Given the description of an element on the screen output the (x, y) to click on. 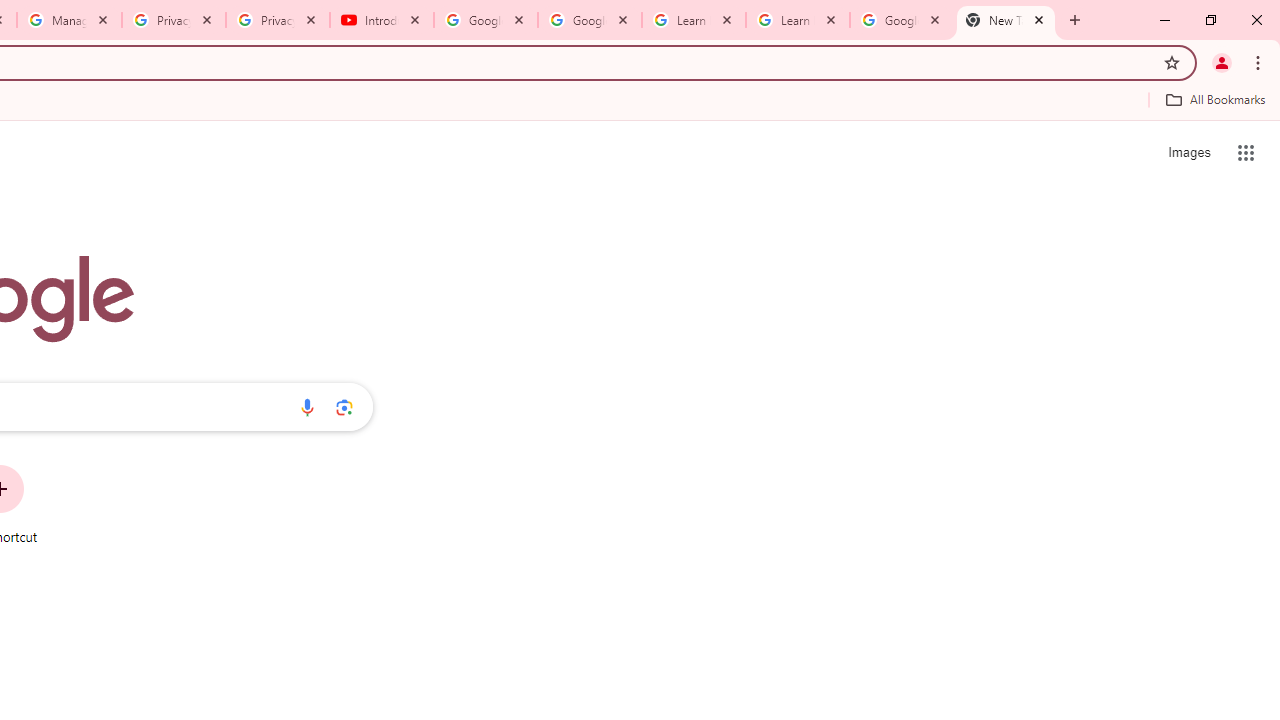
Google Account (901, 20)
Google Account Help (485, 20)
All Bookmarks (1215, 99)
Search by image (344, 407)
Introduction | Google Privacy Policy - YouTube (381, 20)
